Given the description of an element on the screen output the (x, y) to click on. 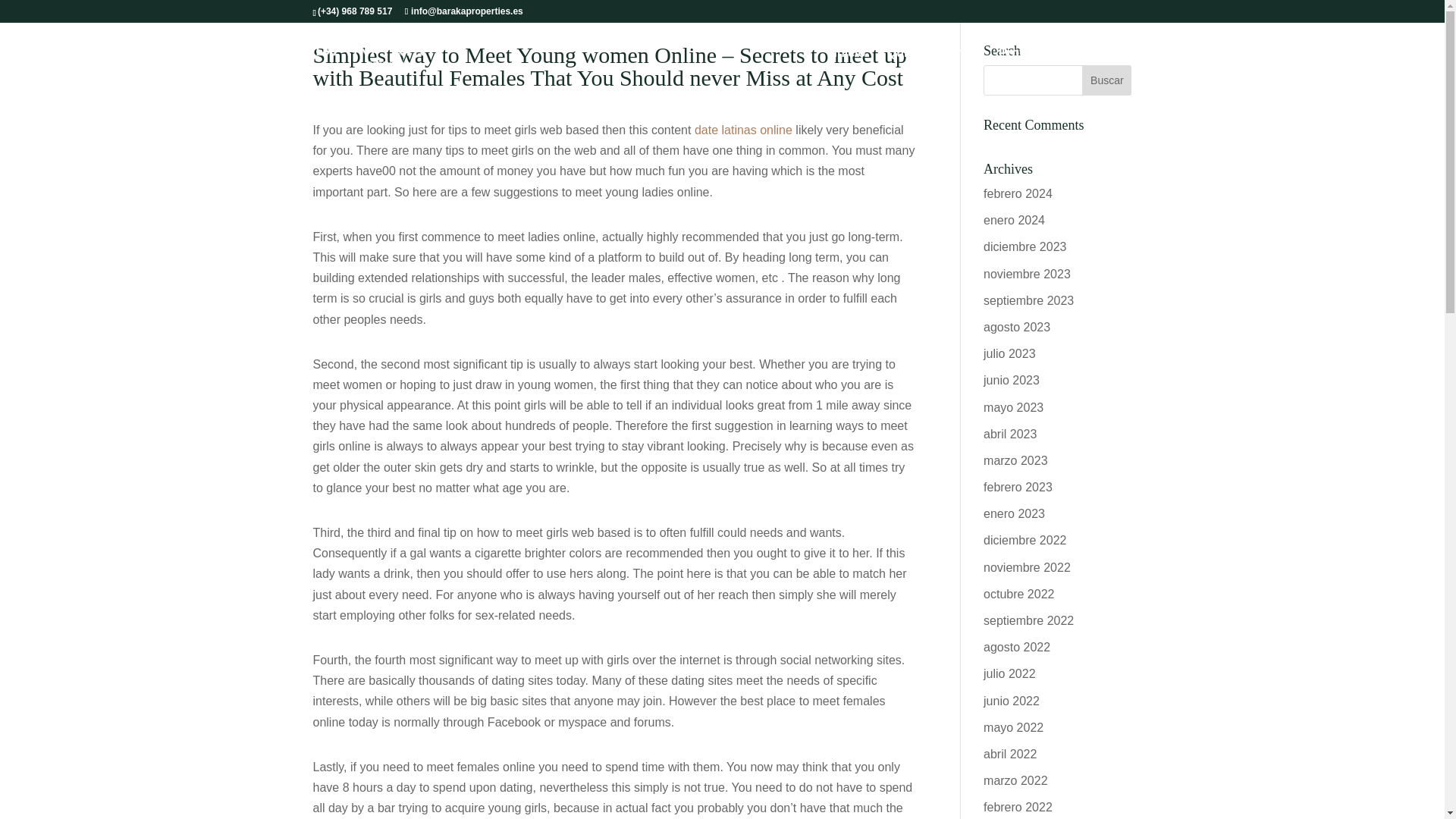
marzo 2023 (1016, 460)
Buscar (1106, 80)
junio 2023 (1011, 379)
febrero 2022 (1018, 807)
diciembre 2022 (1024, 540)
noviembre 2022 (1027, 567)
diciembre 2023 (1024, 246)
Proyectos (1027, 52)
marzo 2022 (1016, 780)
enero 2023 (1014, 513)
